Given the description of an element on the screen output the (x, y) to click on. 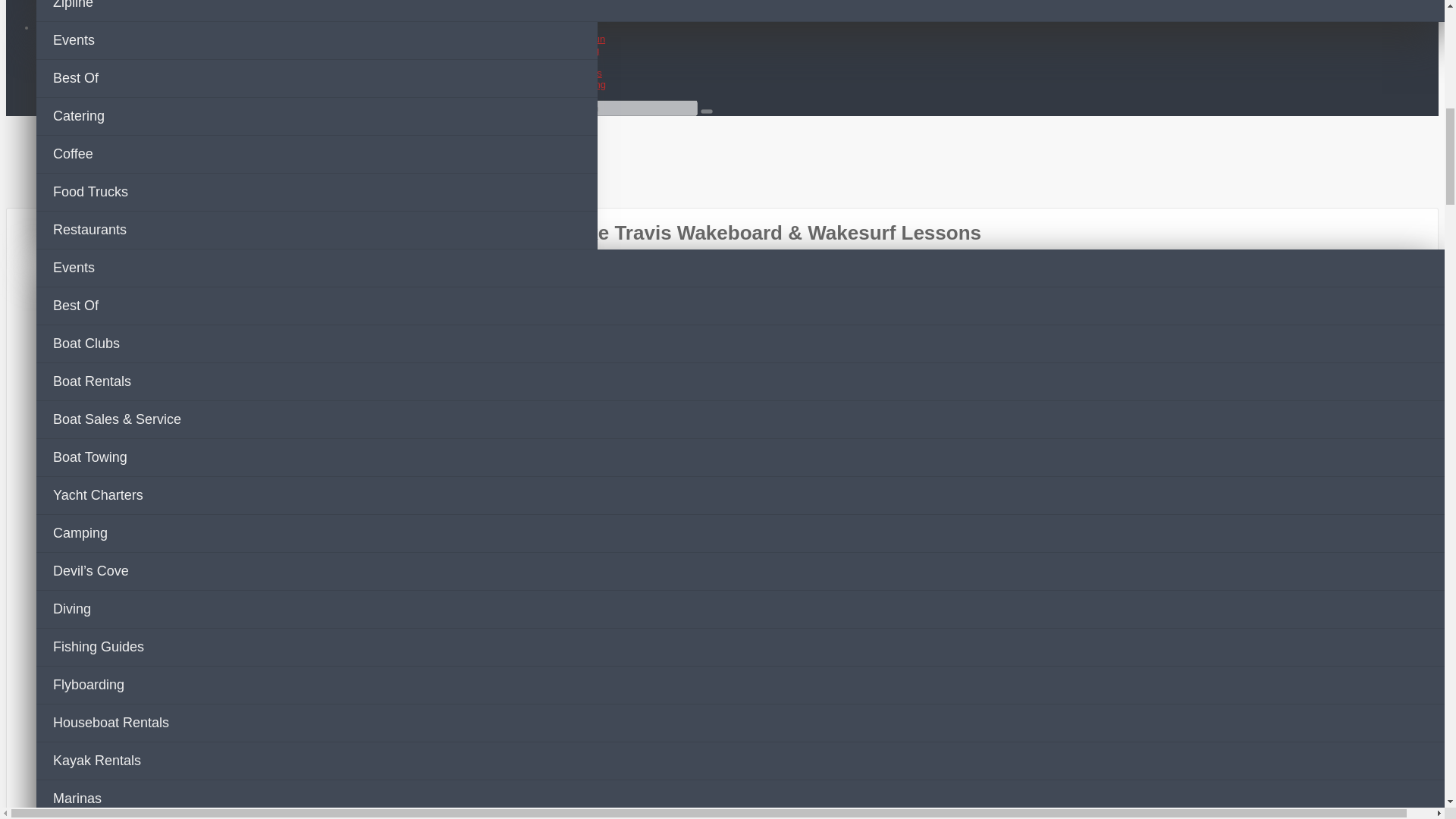
Catering (316, 116)
Dining (578, 27)
Food Trucks (316, 192)
Restaurants (316, 230)
Events (316, 40)
Search for: (630, 107)
Best Of (316, 78)
Lake Fun (584, 39)
Coffee (316, 154)
